Given the description of an element on the screen output the (x, y) to click on. 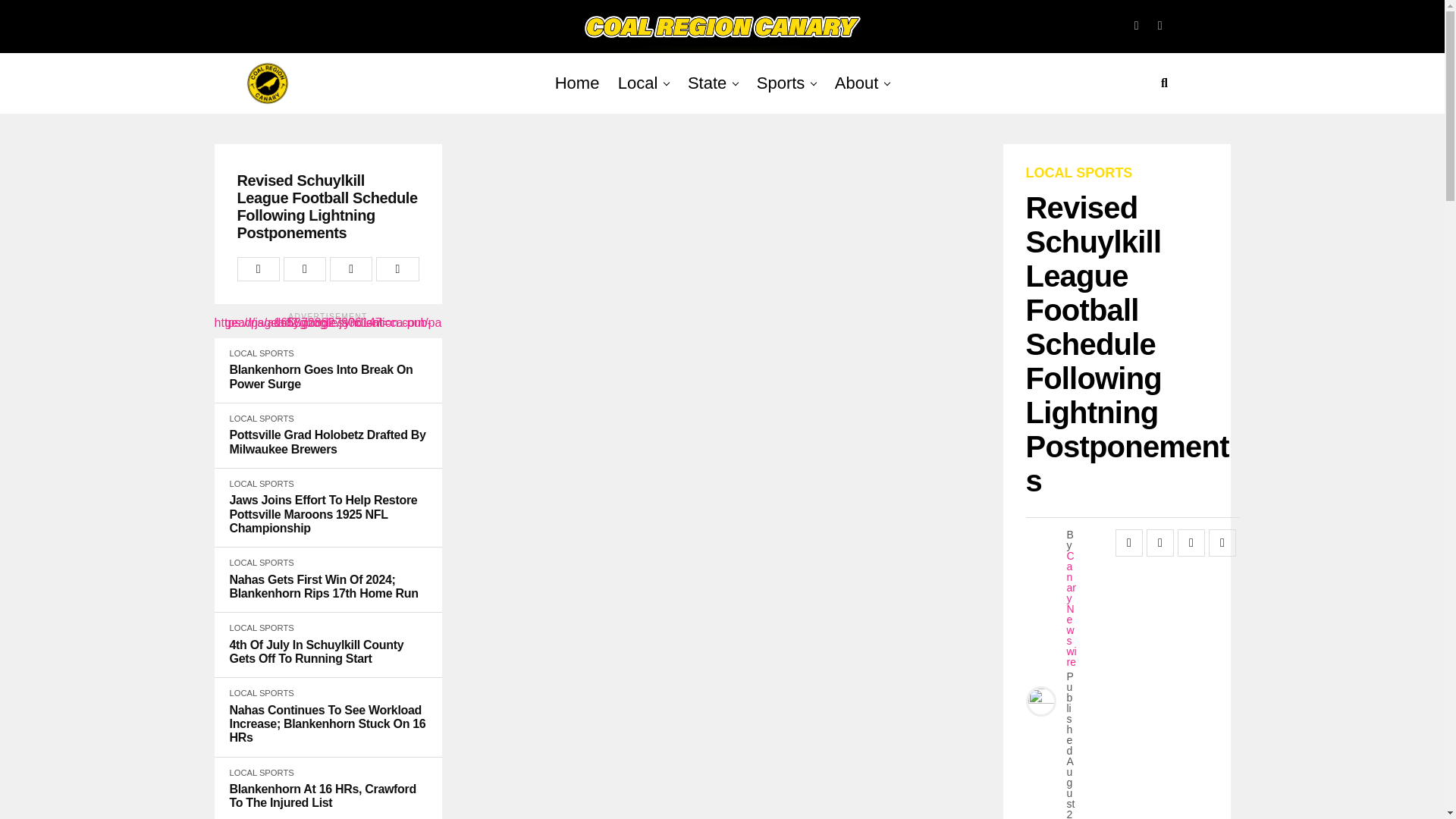
Home (577, 83)
Tweet This Post (304, 269)
Share on Facebook (257, 269)
Local (637, 83)
Share on Flipboard (351, 269)
